Given the description of an element on the screen output the (x, y) to click on. 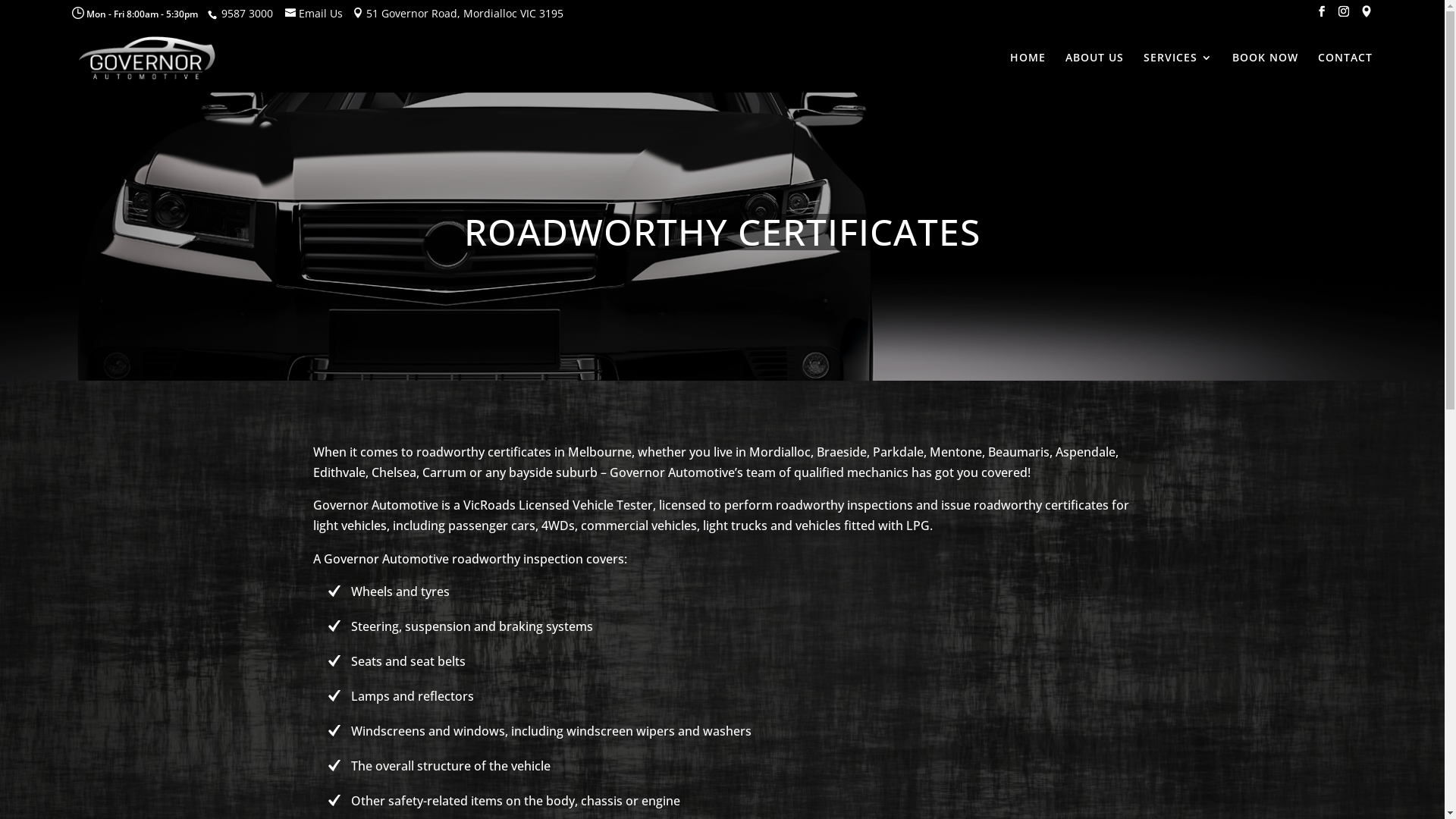
51 Governor Road, Mordialloc VIC 3195 Element type: text (457, 13)
BOOK NOW Element type: text (1265, 72)
CONTACT Element type: text (1344, 72)
Email Us Element type: text (313, 13)
9587 3000 Element type: text (245, 13)
HOME Element type: text (1027, 72)
SERVICES Element type: text (1177, 72)
ABOUT US Element type: text (1094, 72)
